Given the description of an element on the screen output the (x, y) to click on. 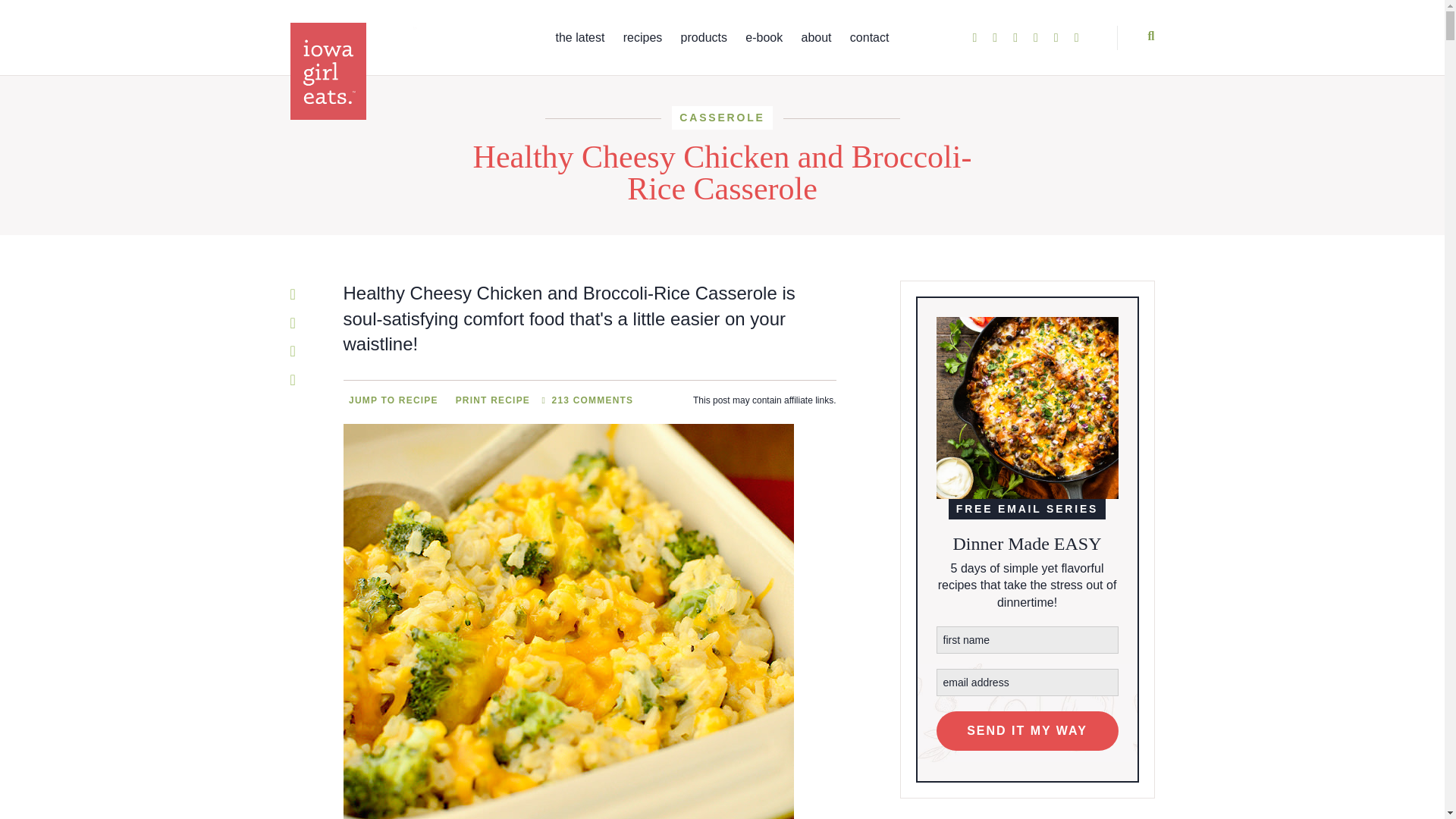
Send it my way (1027, 731)
the latest (579, 37)
products (703, 37)
Iowa Girl Eats (352, 70)
contact (869, 37)
e-book (764, 37)
recipes (642, 37)
about (815, 37)
